Given the description of an element on the screen output the (x, y) to click on. 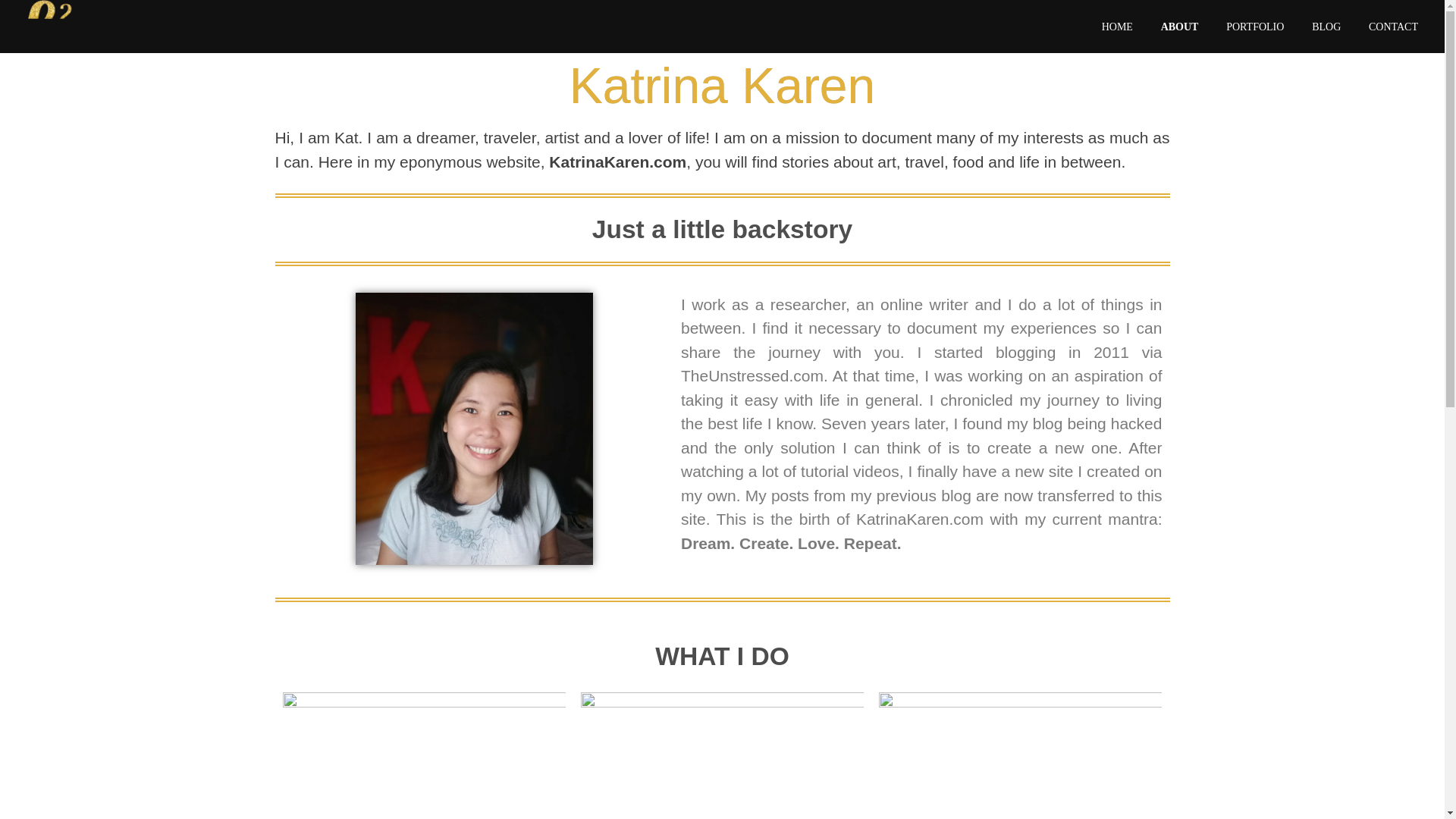
HOME (1124, 15)
BLOG (1326, 22)
PORTFOLIO (1255, 20)
CONTACT (1386, 22)
ABOUT (1179, 18)
